Given the description of an element on the screen output the (x, y) to click on. 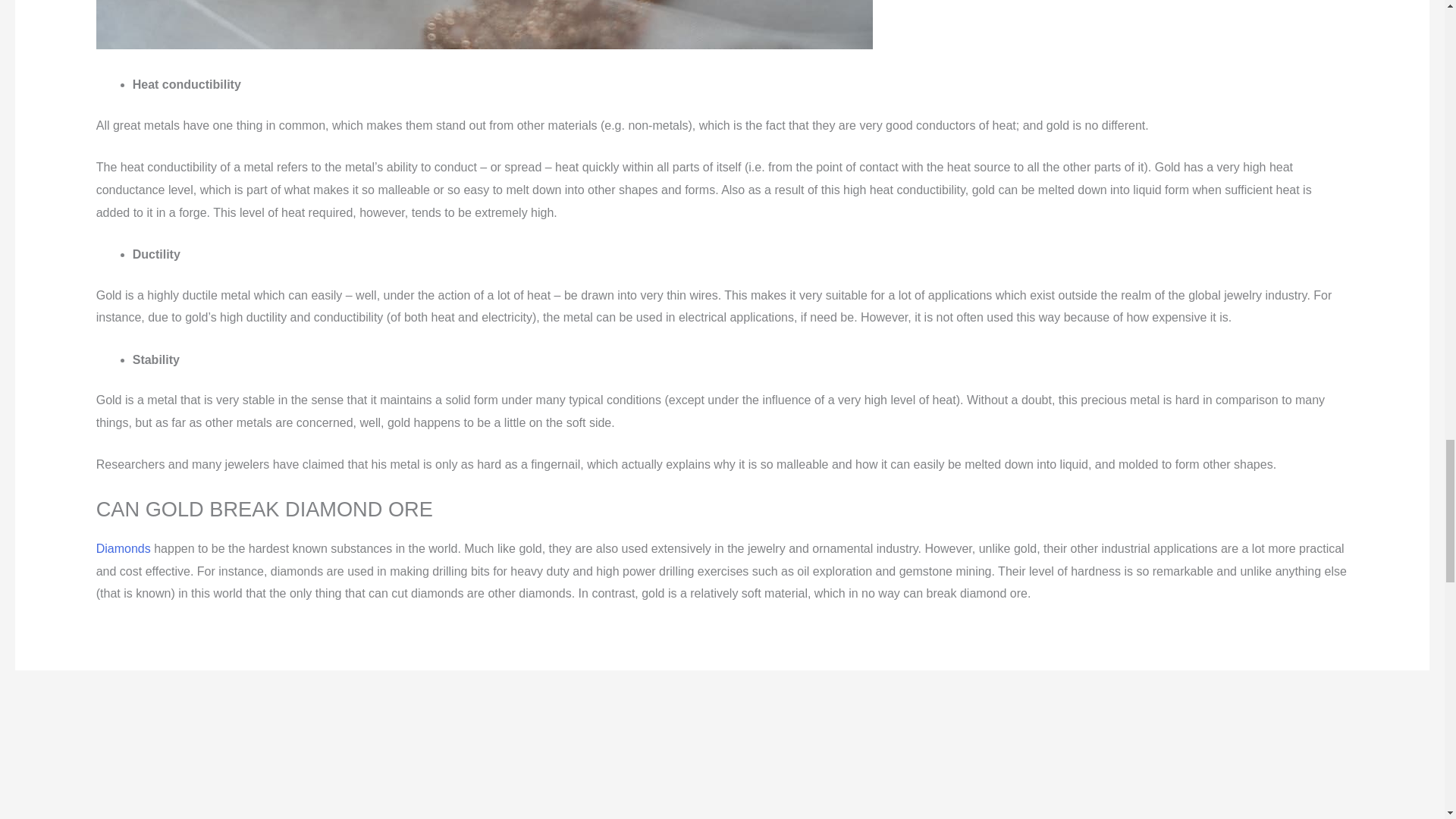
Diamonds (125, 548)
